Given the description of an element on the screen output the (x, y) to click on. 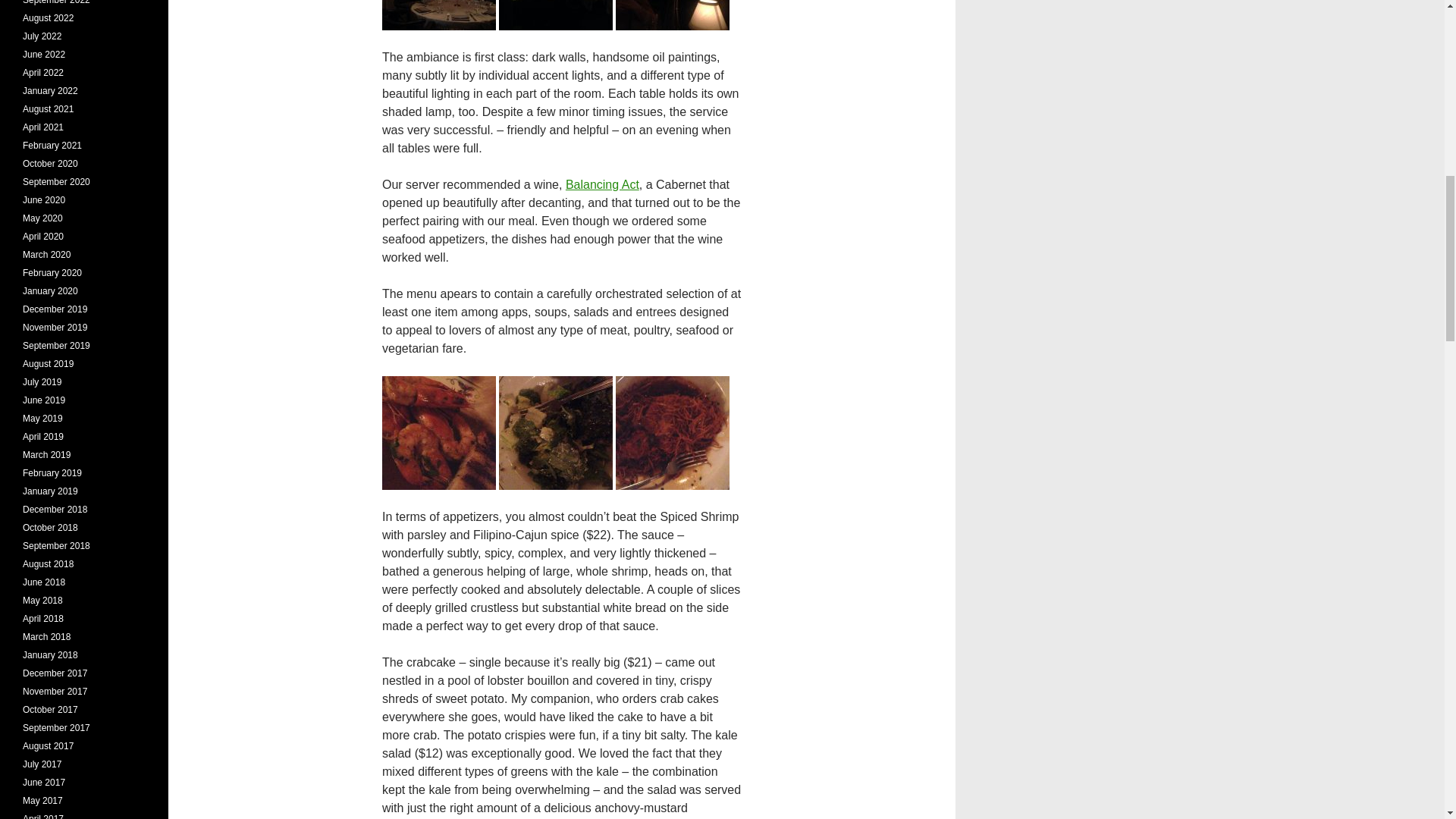
Balancing Act (602, 184)
